Given the description of an element on the screen output the (x, y) to click on. 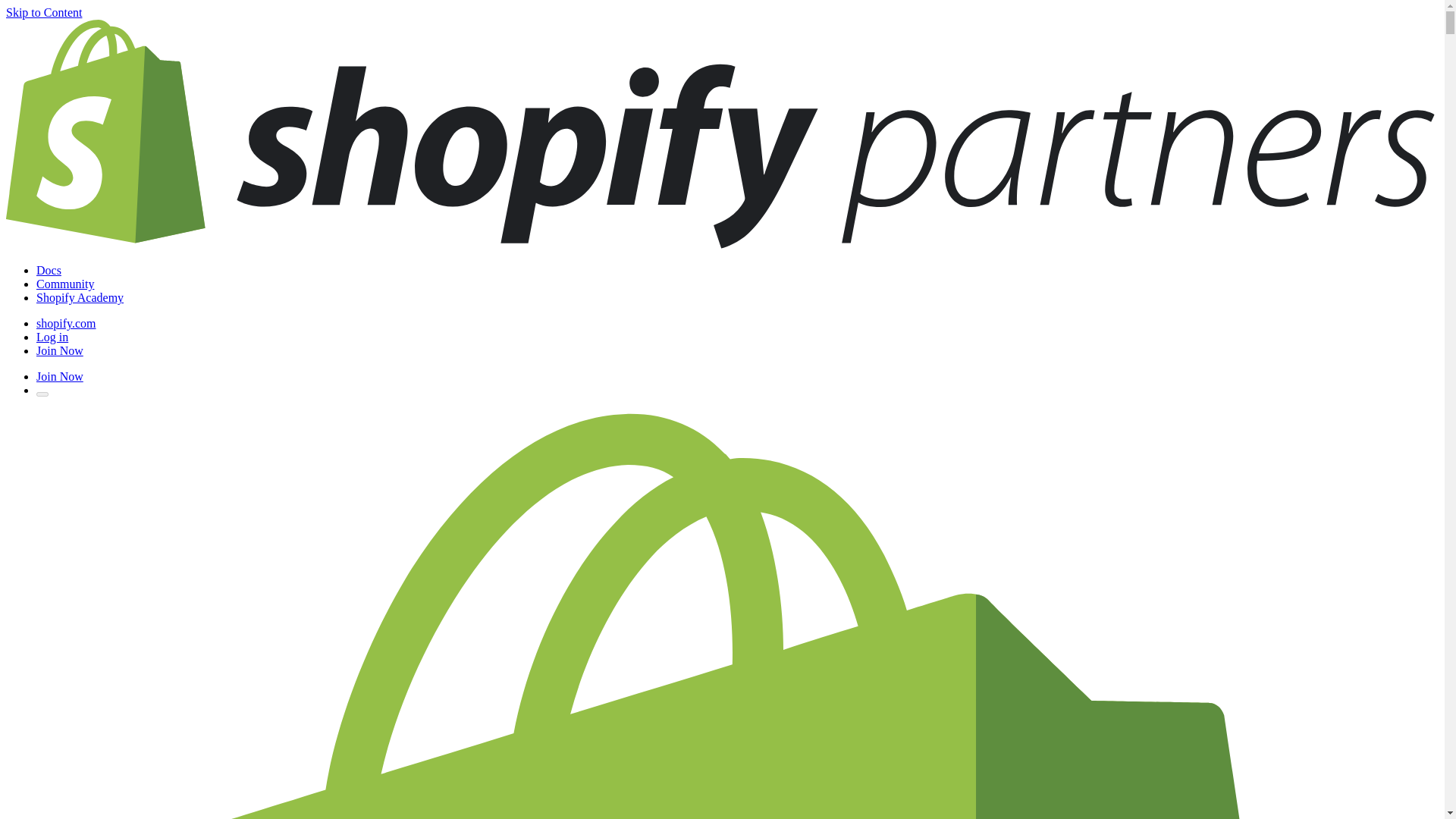
Docs (48, 269)
Join Now (59, 376)
shopify.com (66, 323)
Log in (52, 336)
Skip to Content (43, 11)
Join Now (59, 350)
Community (65, 283)
Shopify Academy (79, 297)
